Given the description of an element on the screen output the (x, y) to click on. 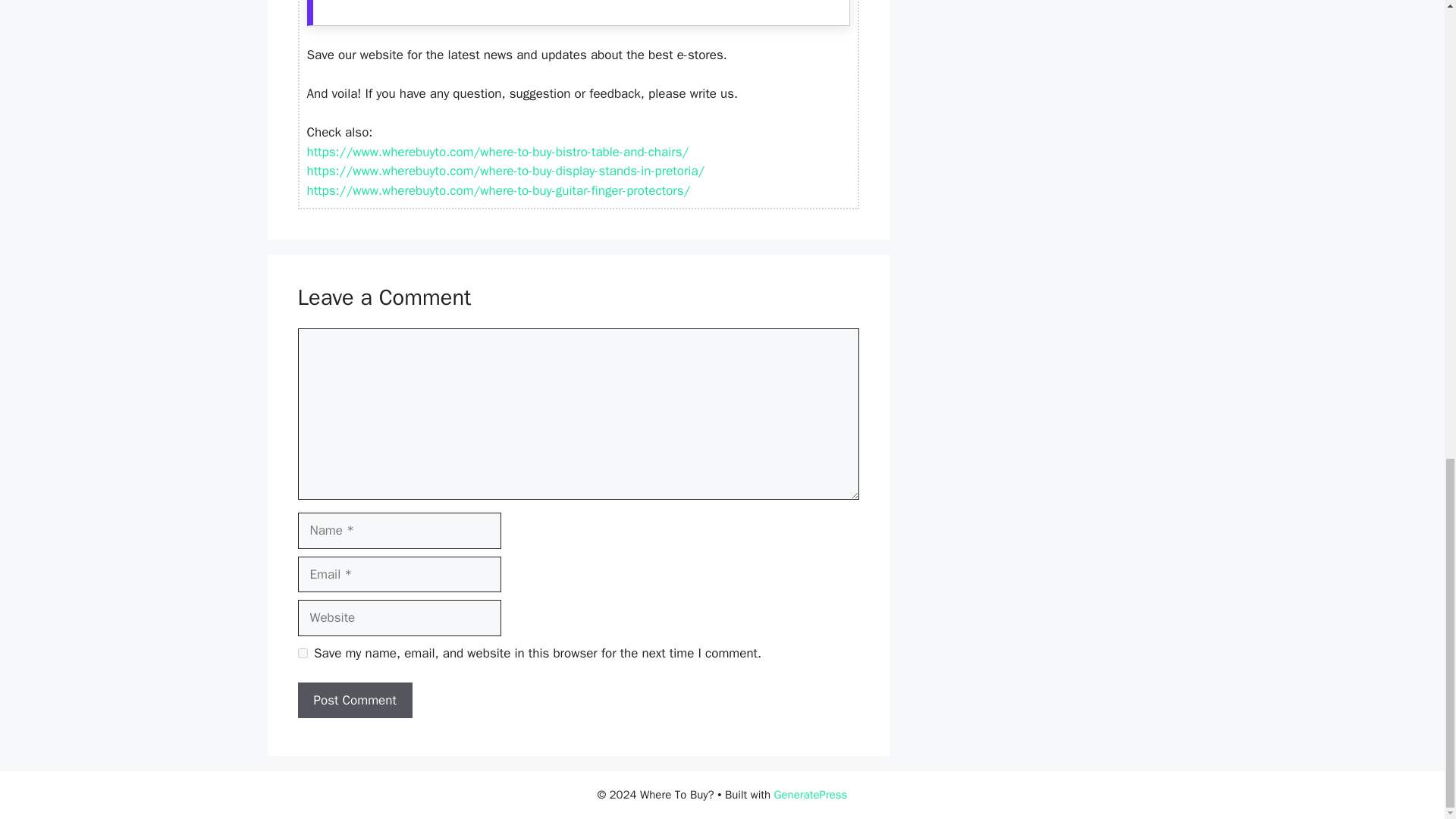
Post Comment (354, 700)
yes (302, 653)
Post Comment (354, 700)
GeneratePress (810, 794)
